Given the description of an element on the screen output the (x, y) to click on. 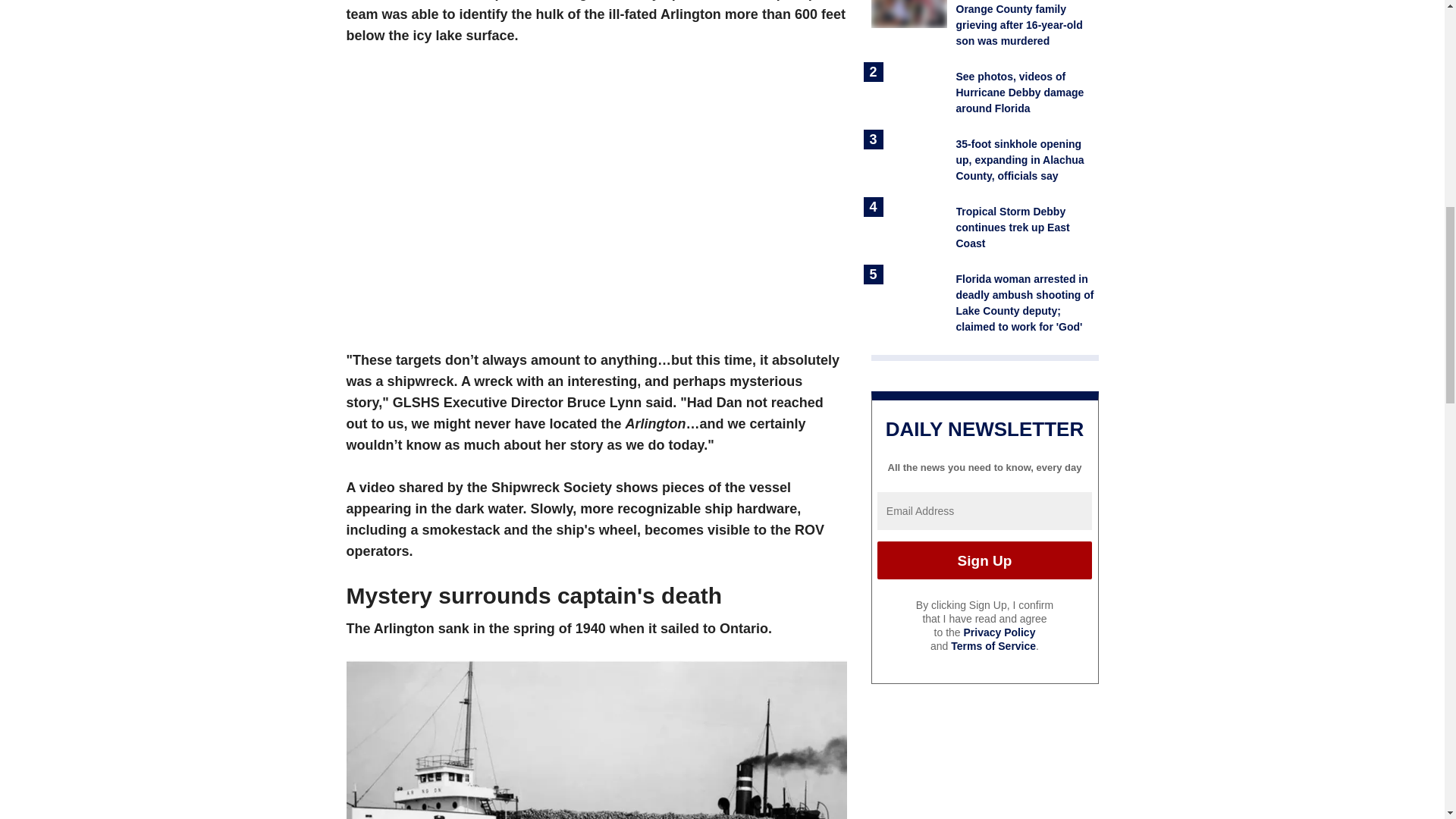
Sign Up (984, 560)
